Given the description of an element on the screen output the (x, y) to click on. 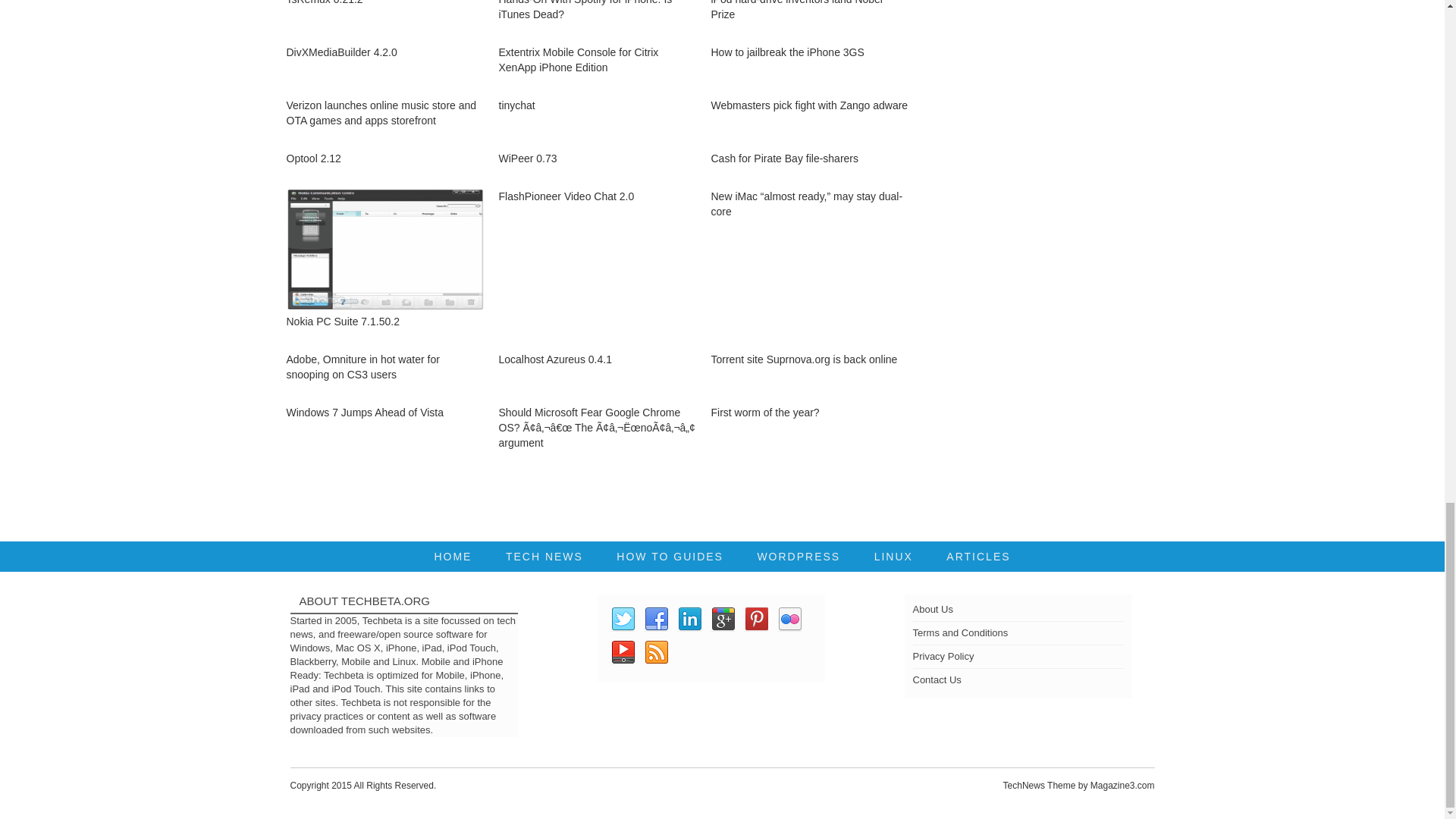
Facebook (654, 619)
Google Plus (721, 619)
Twitter (621, 619)
LinkedIn (688, 619)
